Given the description of an element on the screen output the (x, y) to click on. 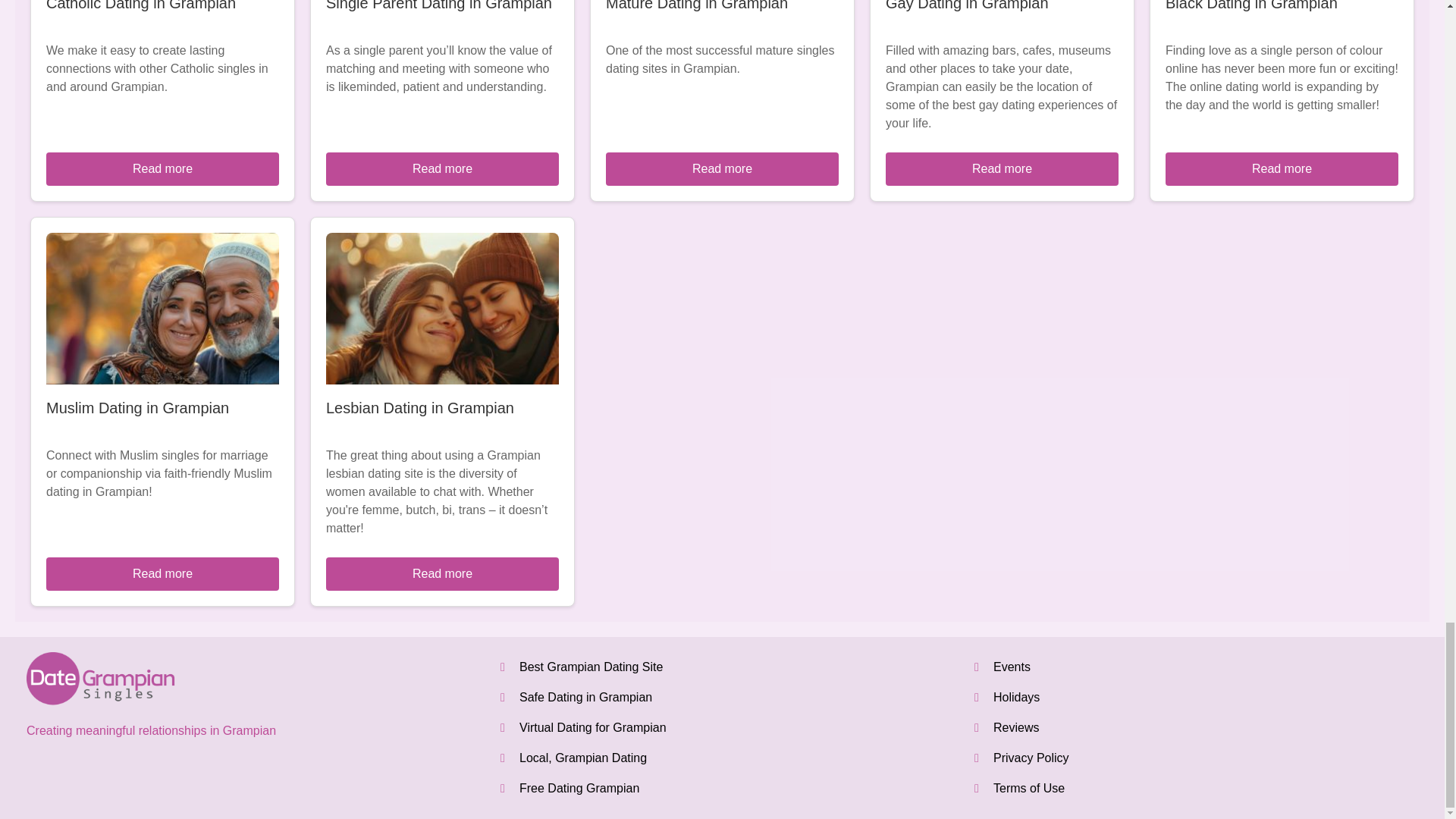
Holidays (1015, 697)
Privacy Policy (1030, 757)
Reviews (1015, 727)
Best Grampian Dating Site (590, 666)
Terms of Use (1028, 788)
Events (1011, 666)
Safe Dating in Grampian (585, 697)
Read more (442, 168)
Read more (162, 168)
Free Dating Grampian (579, 788)
Read more (1001, 168)
Virtual Dating for Grampian (592, 727)
Local, Grampian Dating (582, 757)
Read more (1281, 168)
Read more (721, 168)
